Given the description of an element on the screen output the (x, y) to click on. 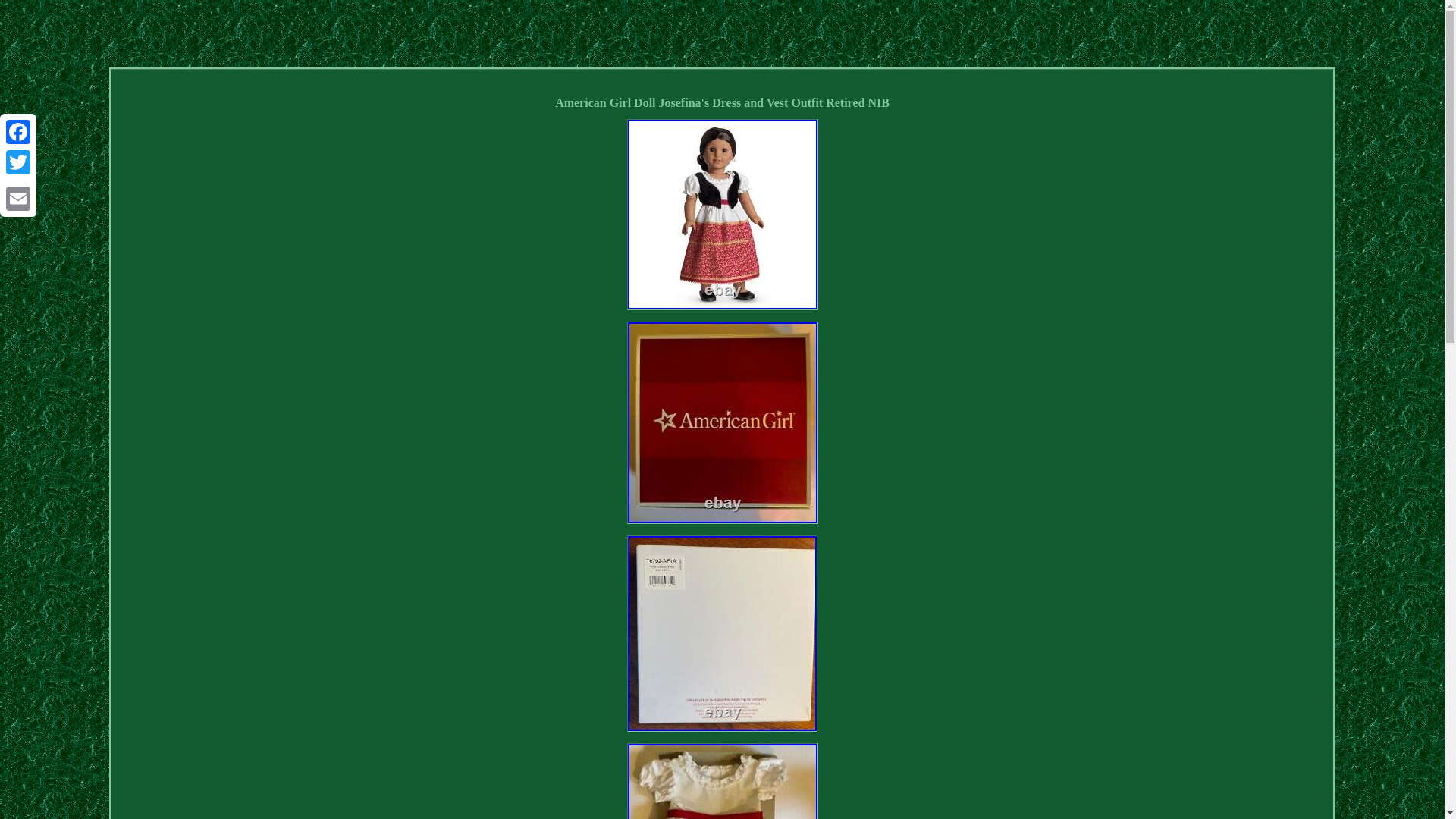
Twitter (17, 162)
Facebook (17, 132)
Email (17, 198)
